Given the description of an element on the screen output the (x, y) to click on. 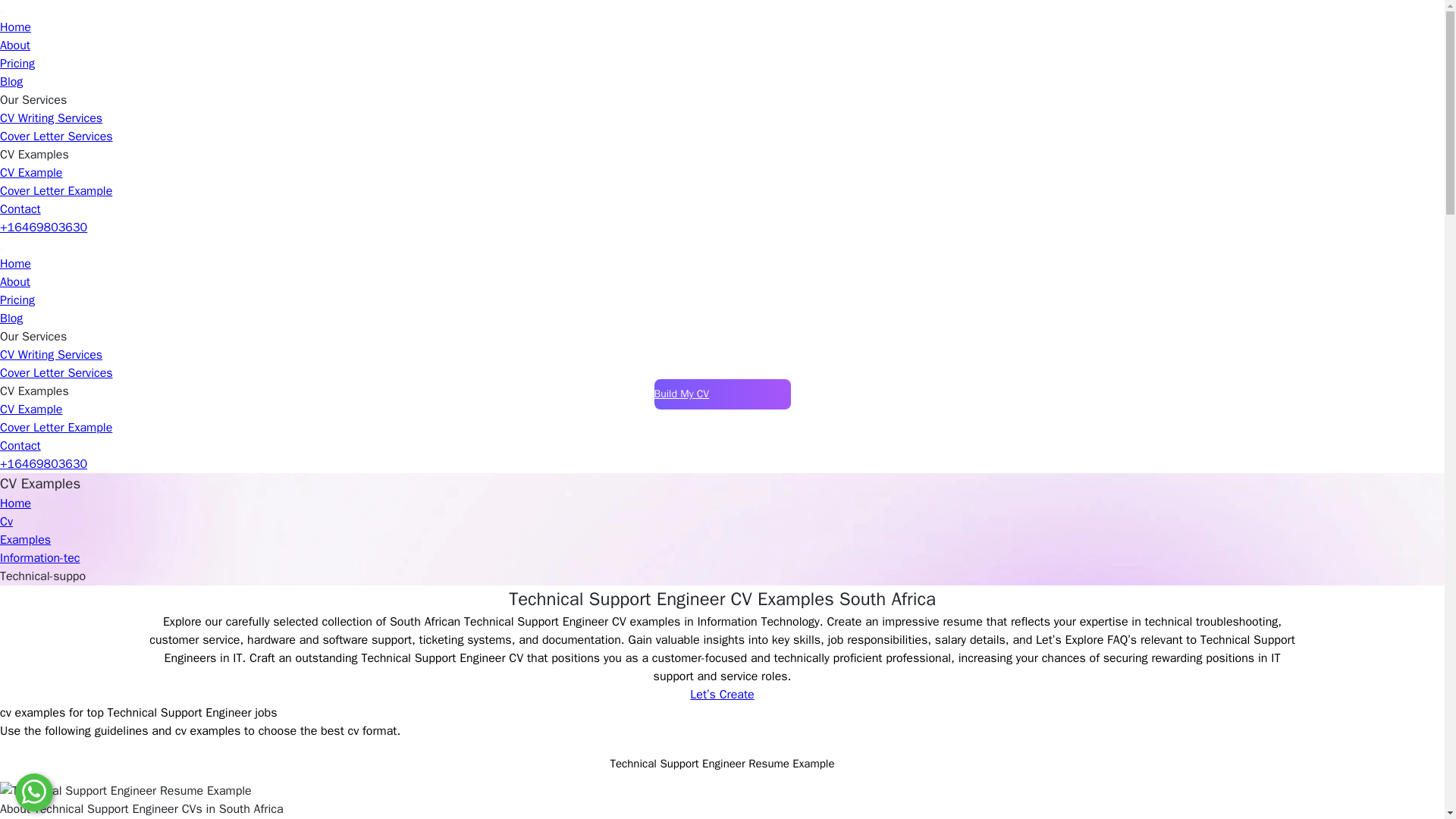
Blog (11, 318)
Our Services (33, 336)
Blog (11, 81)
CV Writing Services (50, 354)
Pricing (17, 299)
Cover Letter Services (56, 136)
CV Writing Services (50, 118)
CV Example (31, 409)
Pricing (17, 63)
CV Examples (34, 391)
CV Examples (34, 154)
Build My CV (721, 394)
Examples (25, 539)
CV Example (31, 172)
Our Services (33, 99)
